Given the description of an element on the screen output the (x, y) to click on. 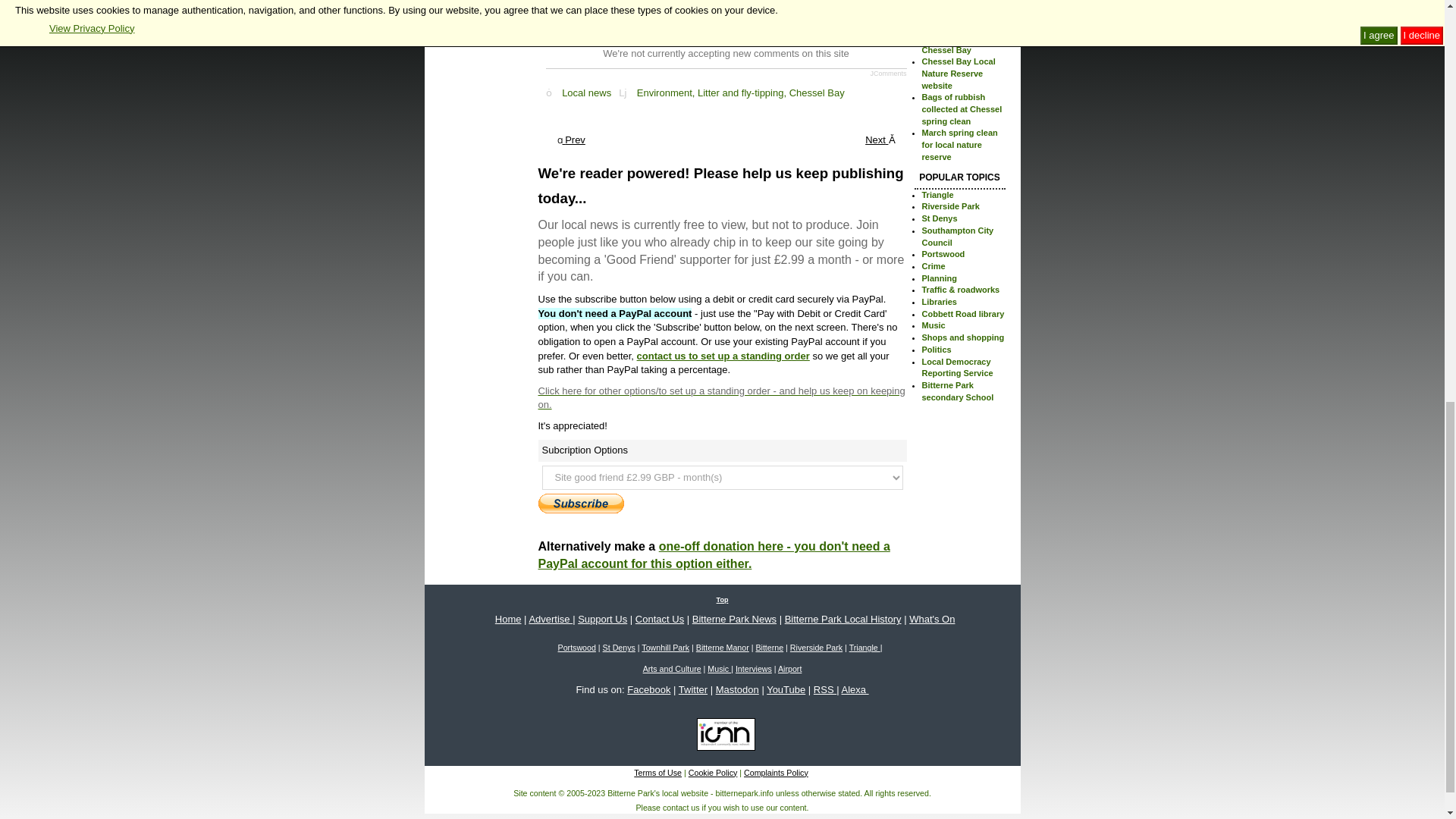
JComments (887, 72)
PayPal - The safer, easier way to pay online! (581, 503)
